Given the description of an element on the screen output the (x, y) to click on. 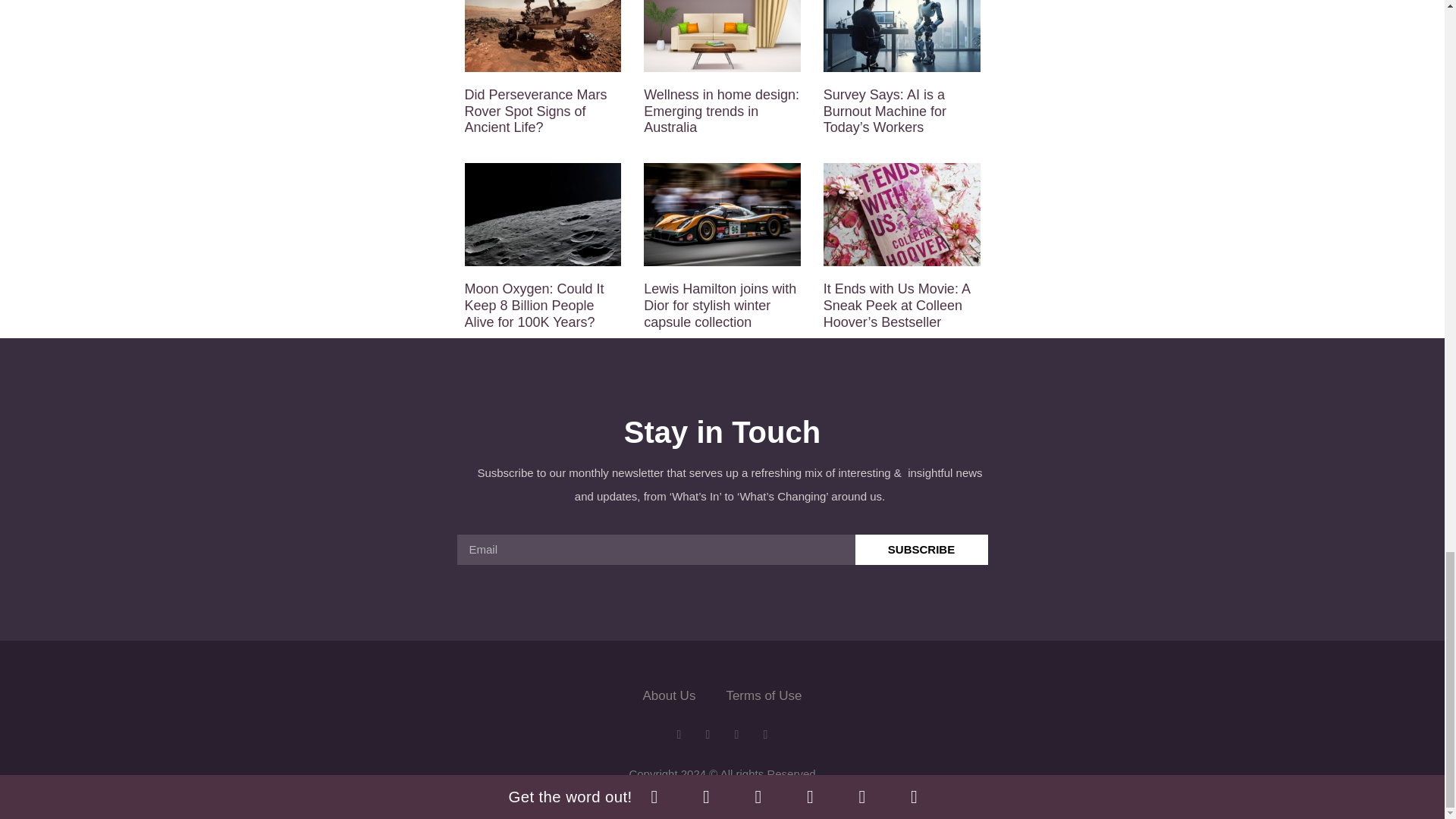
About Us (668, 695)
SUBSCRIBE (922, 549)
Terms of Use (763, 695)
Wellness in home design: Emerging trends in Australia (721, 110)
Did Perseverance Mars Rover Spot Signs of Ancient Life? (535, 110)
